Given the description of an element on the screen output the (x, y) to click on. 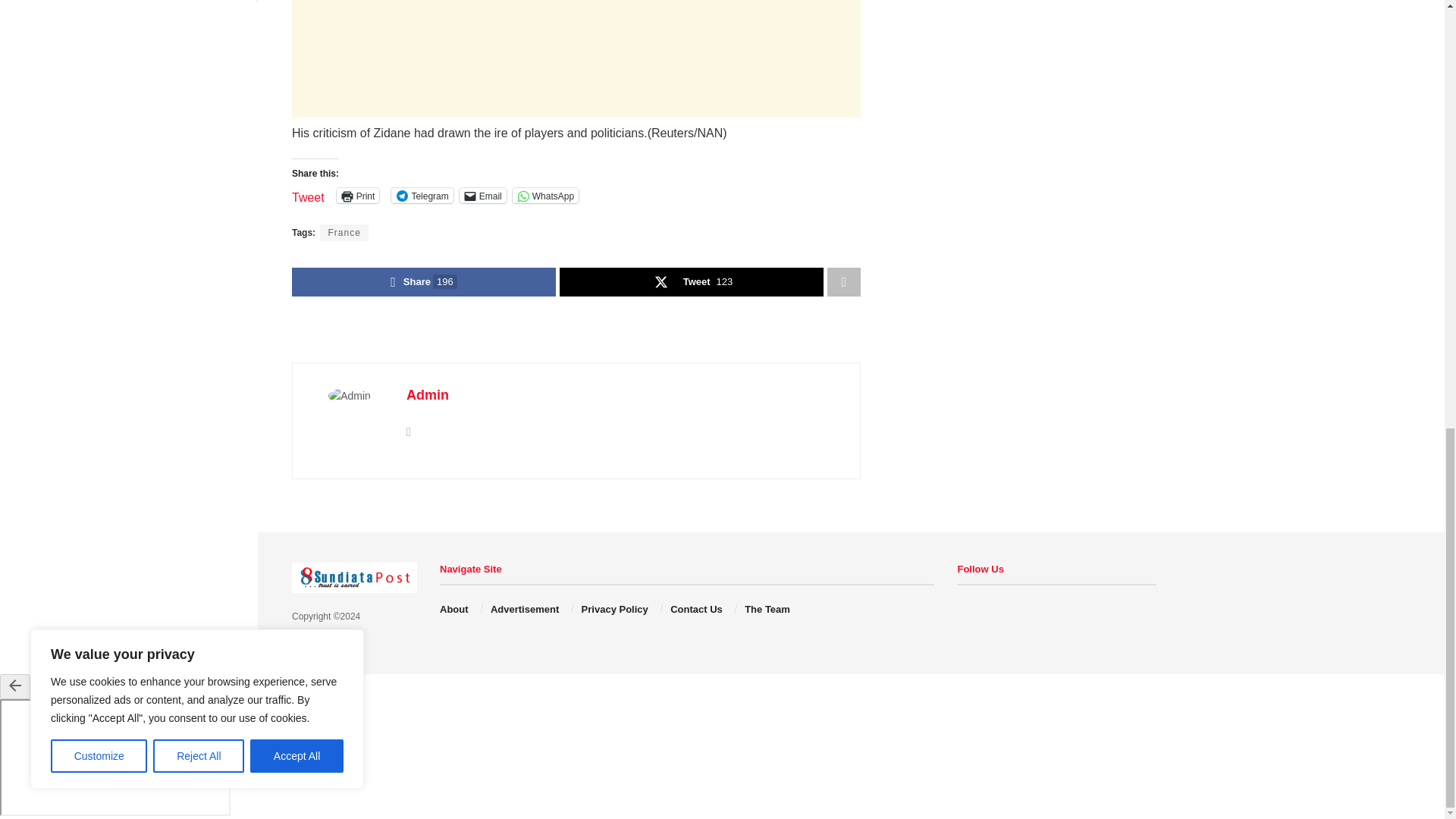
Click to share on WhatsApp (545, 195)
Advertisement (576, 58)
Click to share on Telegram (421, 195)
Click to email a link to a friend (483, 195)
Click to print (358, 195)
